Given the description of an element on the screen output the (x, y) to click on. 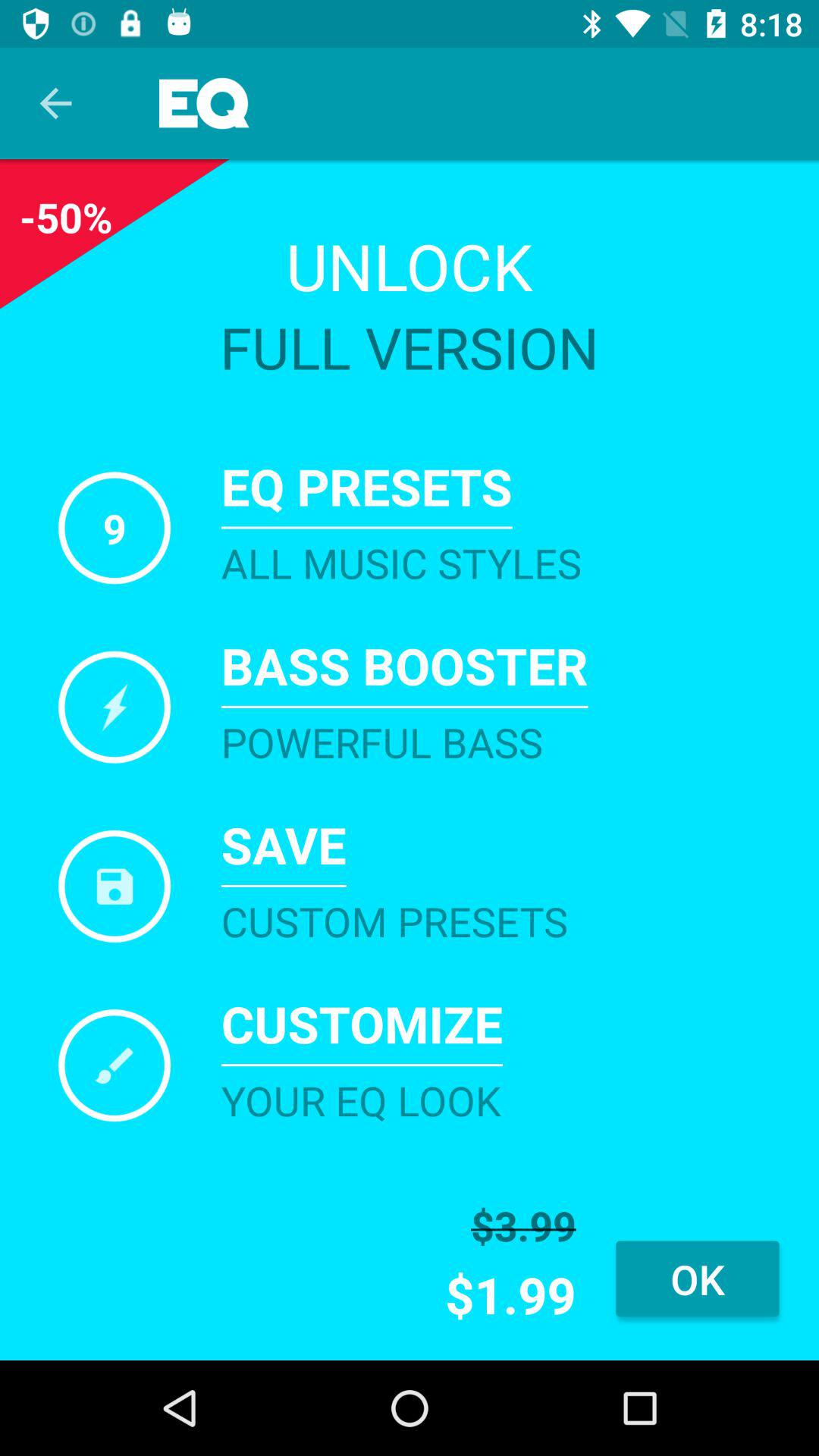
turn off the item to the right of the $3.99 icon (697, 1278)
